Given the description of an element on the screen output the (x, y) to click on. 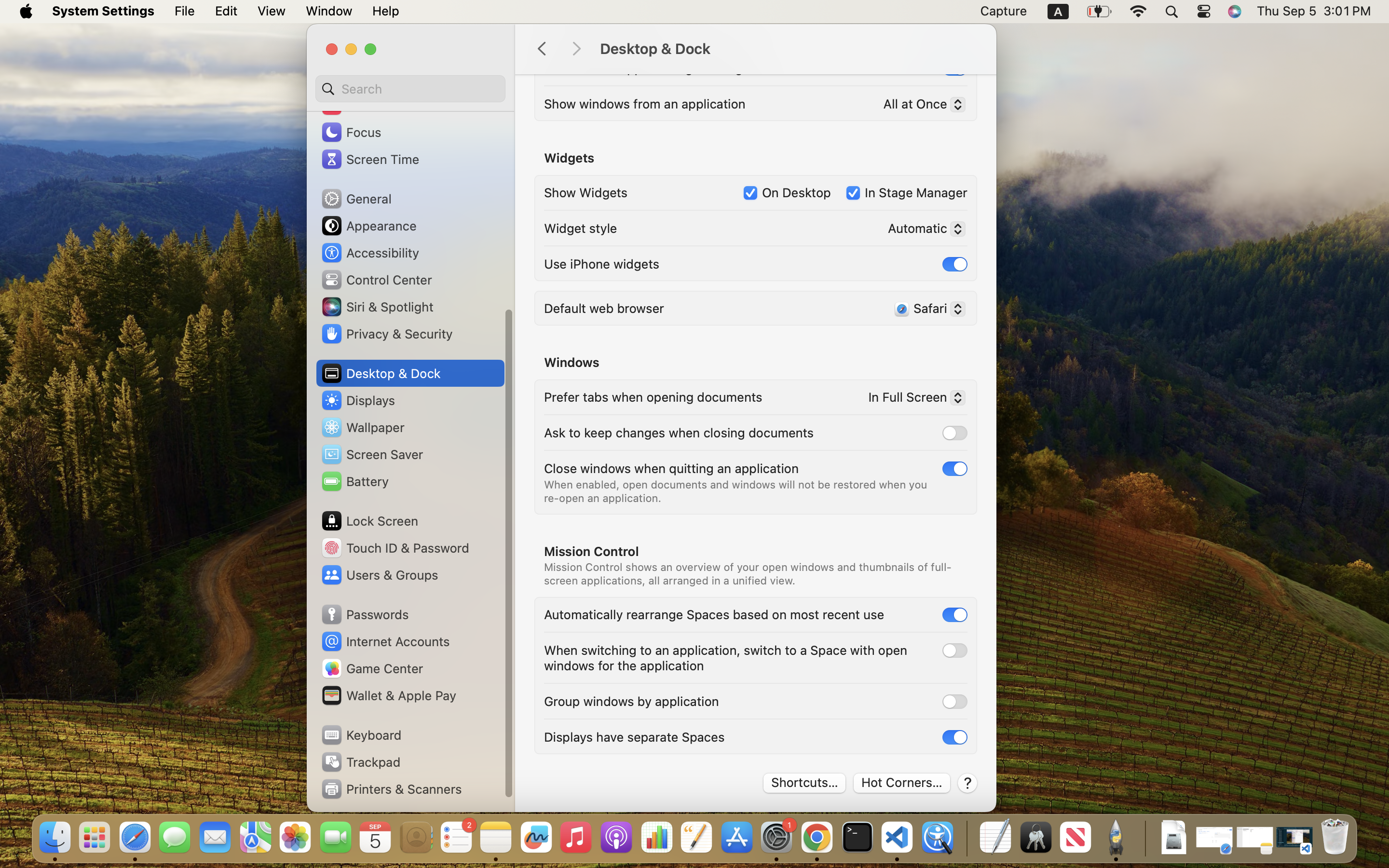
Game Center Element type: AXStaticText (371, 667)
Passwords Element type: AXStaticText (364, 613)
Automatic Element type: AXPopUpButton (922, 229)
Screen Time Element type: AXStaticText (369, 158)
Safari Element type: AXPopUpButton (925, 310)
